Given the description of an element on the screen output the (x, y) to click on. 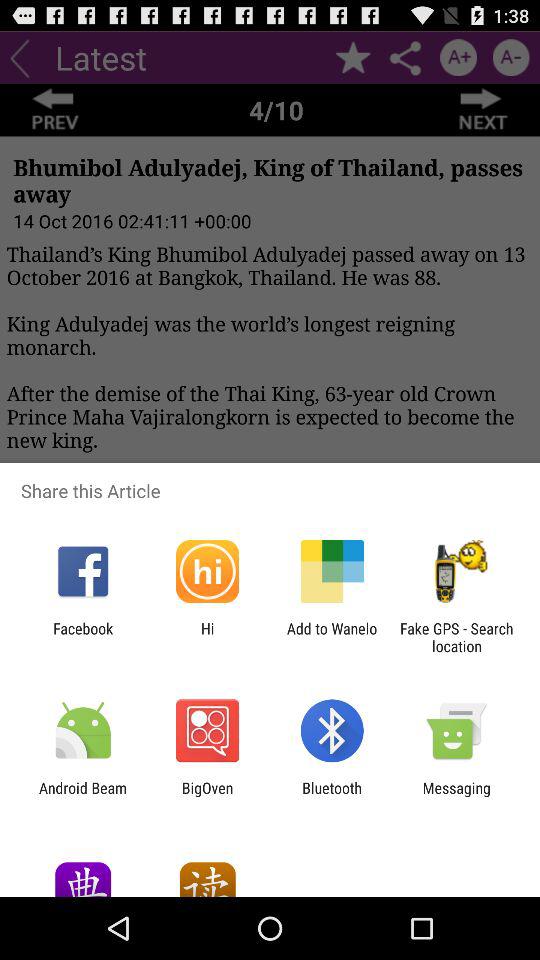
select android beam icon (83, 796)
